Given the description of an element on the screen output the (x, y) to click on. 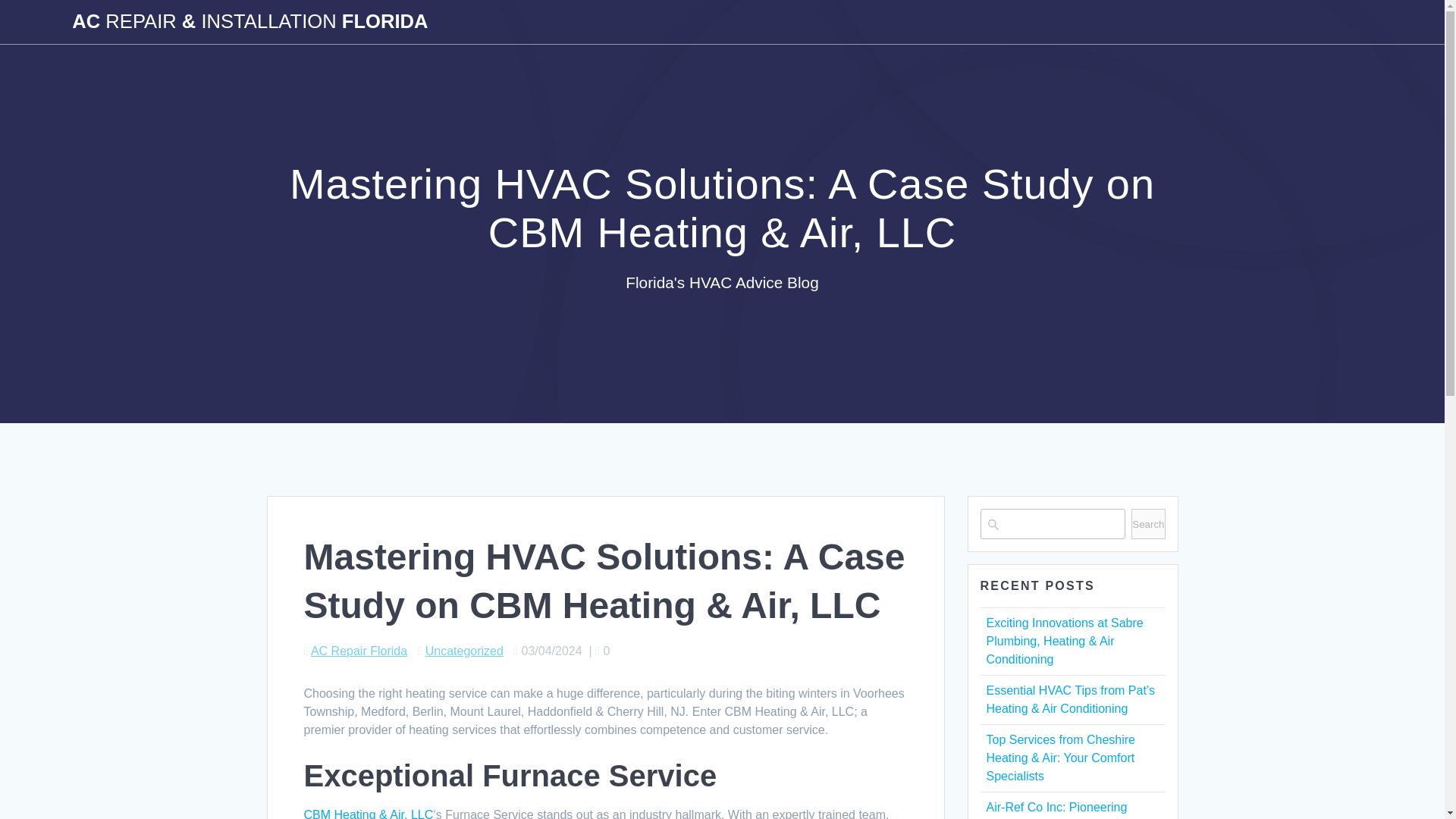
Search (1147, 523)
Air-Ref Co Inc: Pioneering Excellence in HVAC Solutions (1066, 809)
Uncategorized (464, 650)
Posts by AC Repair Florida (359, 650)
AC Repair Florida (359, 650)
